Given the description of an element on the screen output the (x, y) to click on. 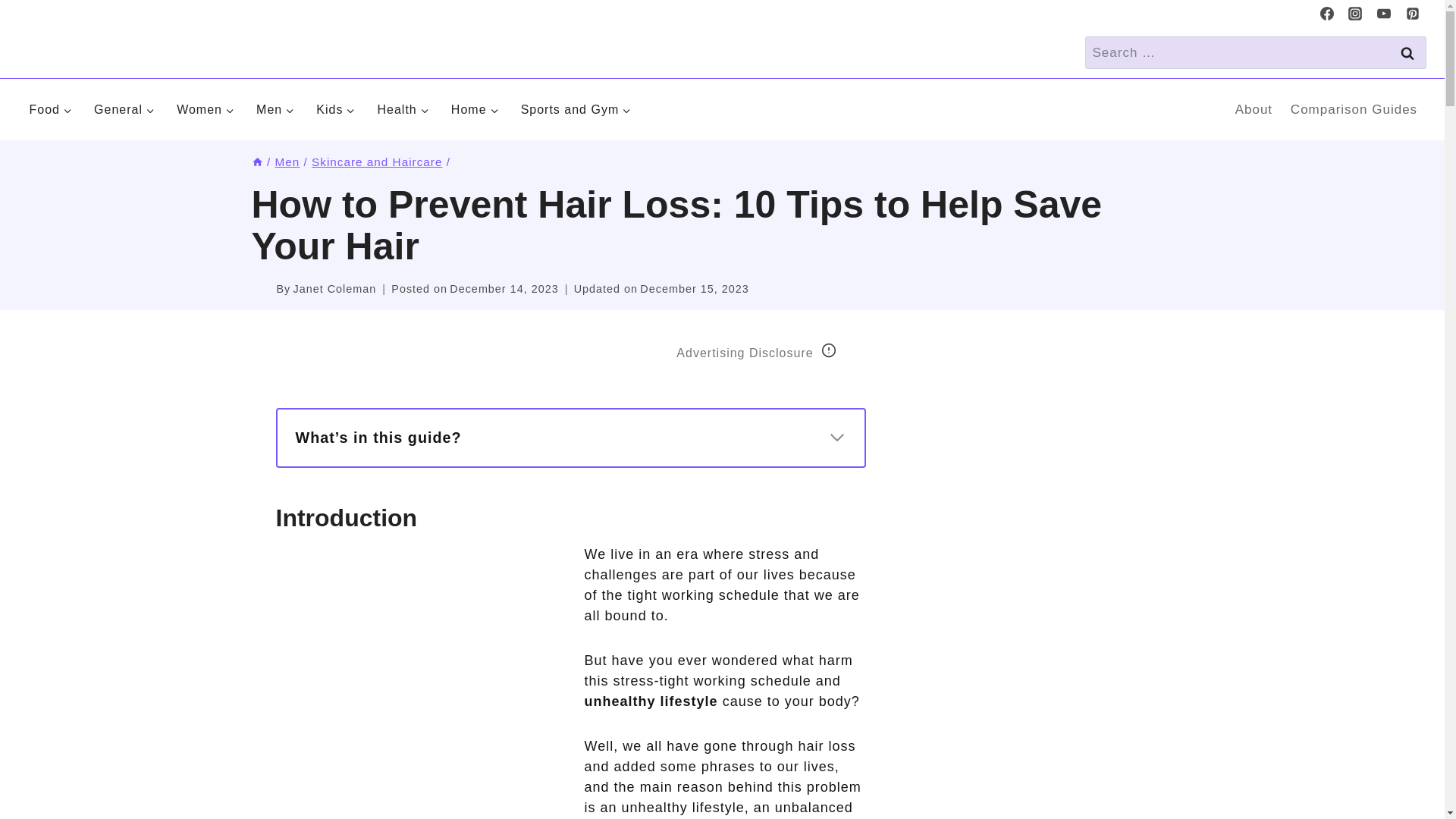
Food (49, 109)
Search (1407, 52)
Search (1407, 52)
General (123, 109)
Search (1407, 52)
